Given the description of an element on the screen output the (x, y) to click on. 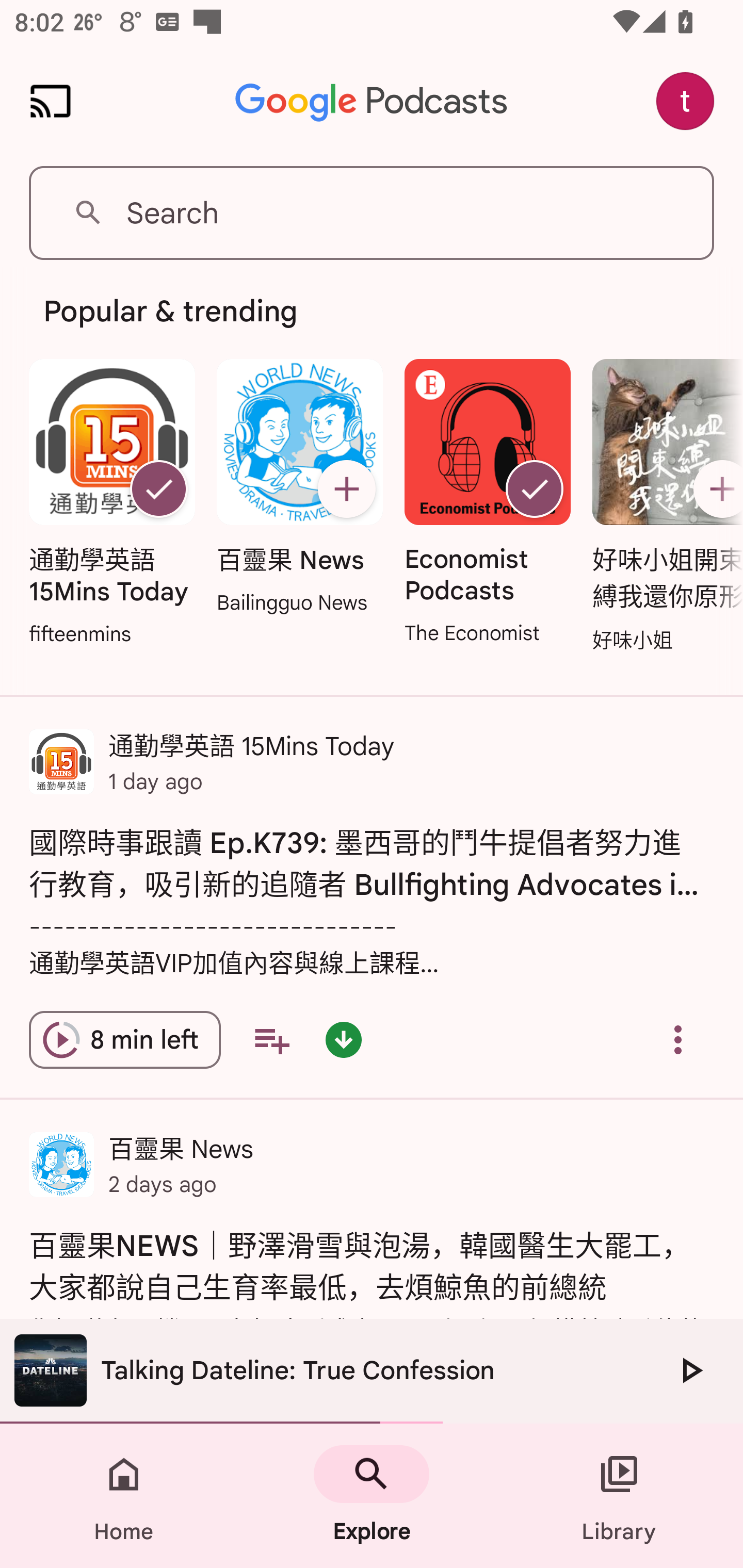
Cast. Disconnected (50, 101)
Search (371, 212)
百靈果 News Subscribe 百靈果 News Bailingguo News (299, 488)
好味小姐開束縛我還你原形 Subscribe 好味小姐開束縛我還你原形 好味小姐 (662, 507)
Unsubscribe (158, 489)
Subscribe (346, 489)
Unsubscribe (534, 489)
Subscribe (714, 489)
Add to your queue (271, 1040)
Episode downloaded - double tap for options (343, 1040)
Overflow menu (677, 1040)
Play (690, 1370)
Home (123, 1495)
Library (619, 1495)
